Given the description of an element on the screen output the (x, y) to click on. 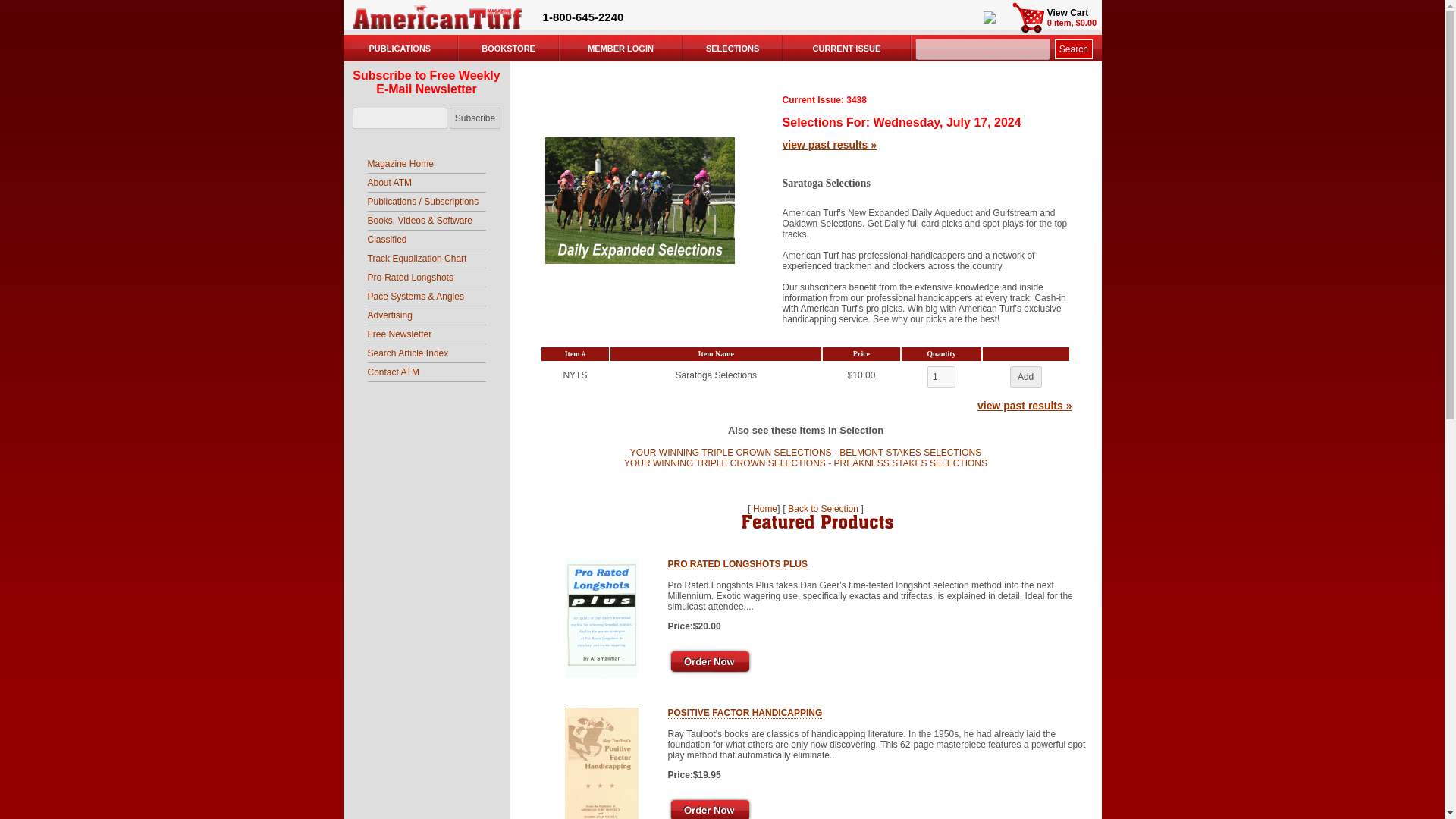
Subscribe (474, 117)
Search (1073, 48)
1 (941, 376)
Classified (386, 239)
MEMBER LOGIN (620, 48)
Pro-Rated Longshots (409, 276)
Contact ATM (392, 371)
Magazine Home (399, 163)
Search Article Index (407, 353)
About ATM (388, 182)
Search (1073, 48)
Back to Selection (823, 508)
Advertising (389, 315)
